Given the description of an element on the screen output the (x, y) to click on. 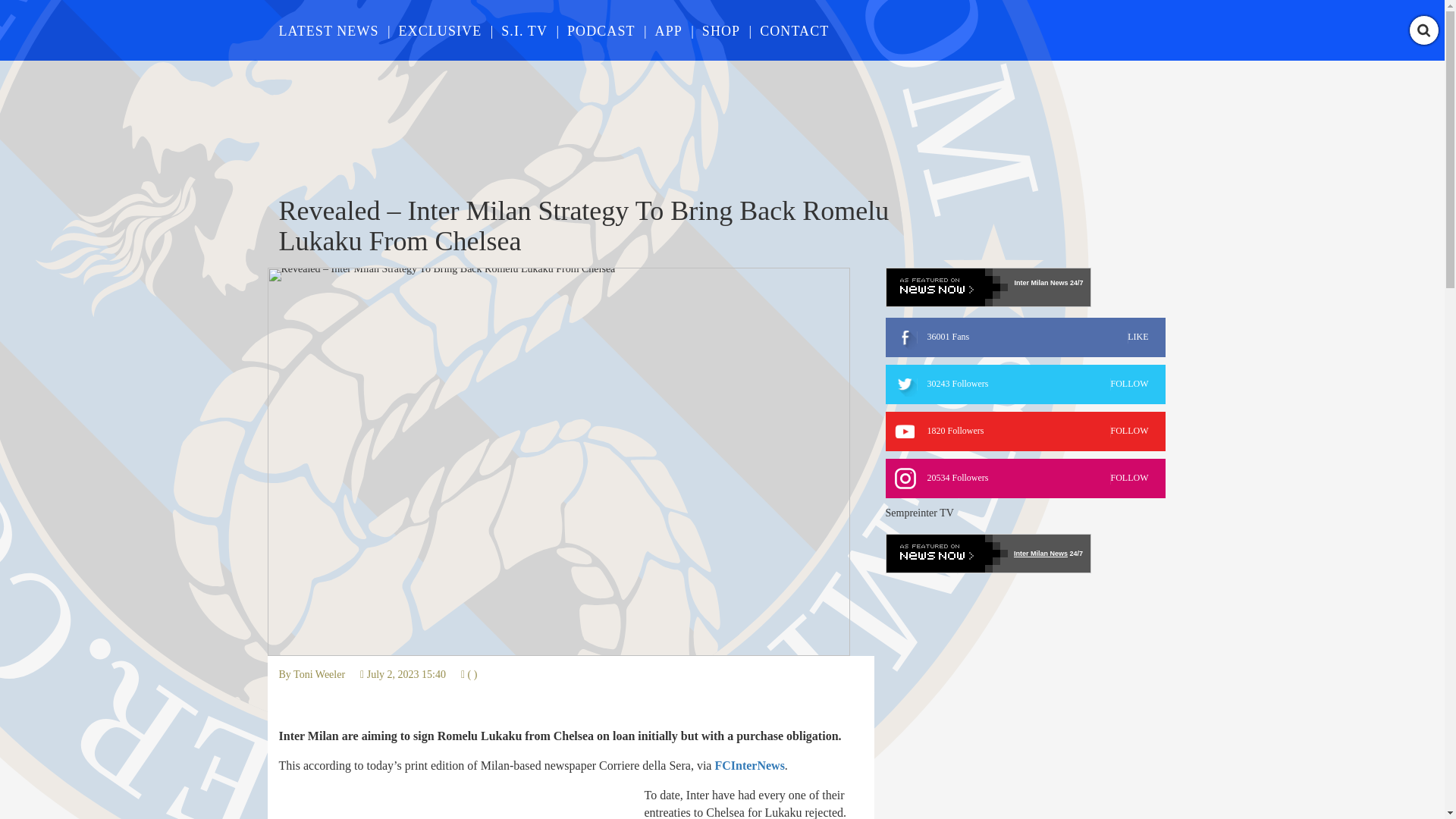
CONTACT (794, 30)
APP (1025, 431)
View more articles by Toni Weeler (668, 30)
Click here for more Inter Milan News from NewsNow (319, 674)
Click here for more Inter Milan News from NewsNow (987, 553)
Toni Weeler (987, 287)
S.I. TV (319, 674)
SHOP (523, 30)
LATEST NEWS (720, 30)
PODCAST (328, 30)
FCInterNews (600, 30)
EXCLUSIVE (749, 765)
Inter Milan News (1025, 337)
